Given the description of an element on the screen output the (x, y) to click on. 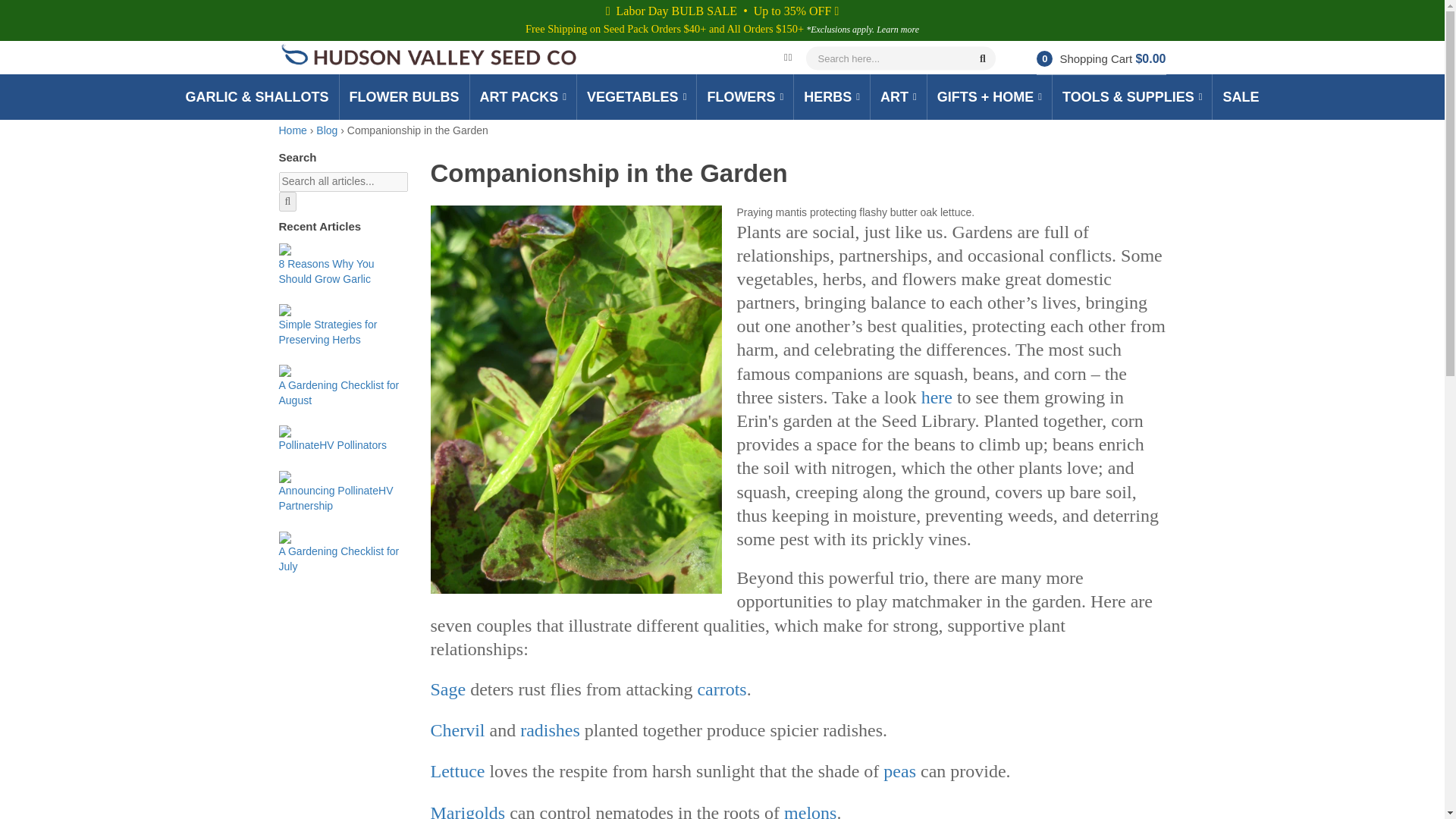
Learn more (897, 29)
FLOWER BULBS (404, 97)
ART PACKS (522, 97)
VEGETABLES (636, 97)
Back to the frontpage (293, 130)
